Given the description of an element on the screen output the (x, y) to click on. 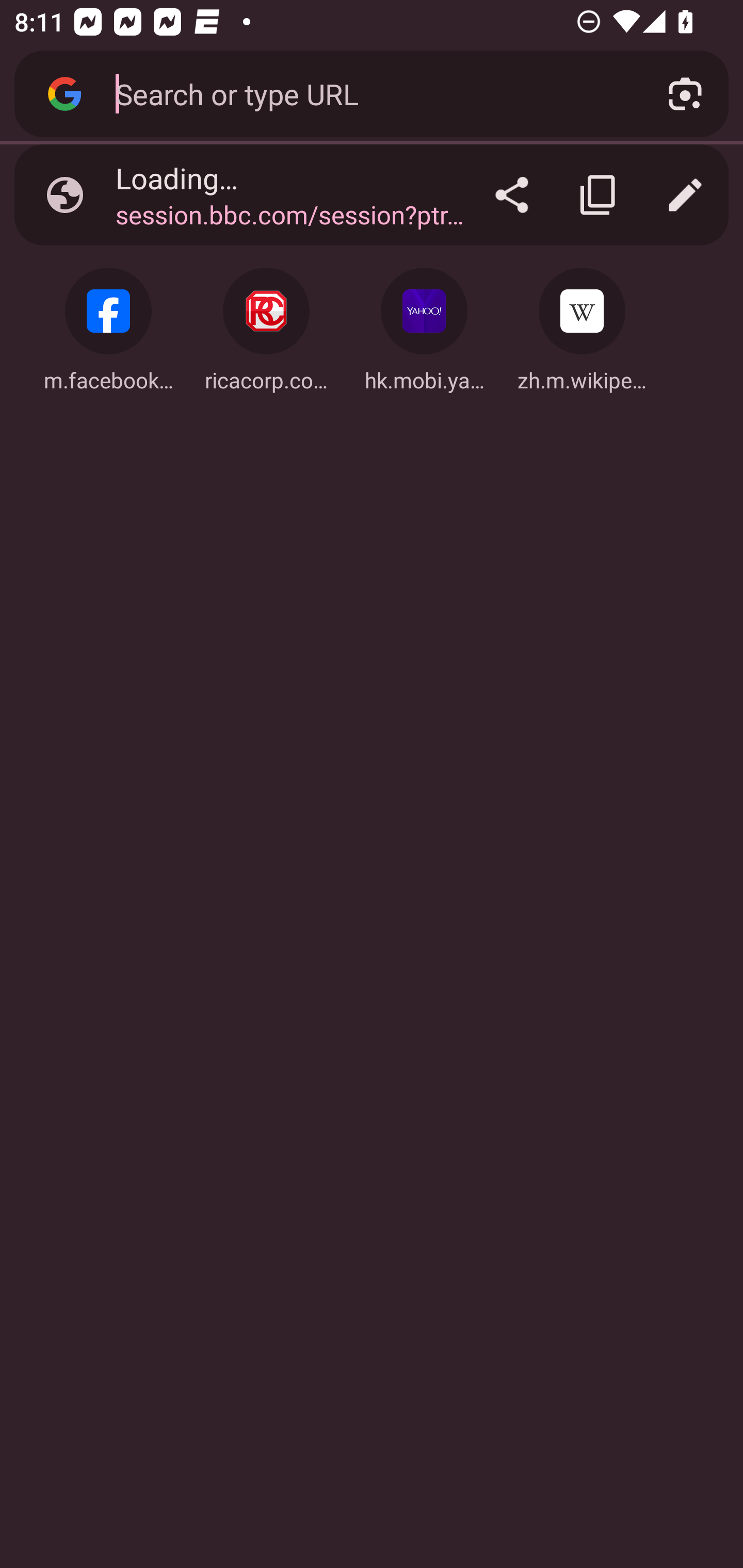
Search with your camera using Google Lens (684, 93)
Search or type URL (367, 92)
Share… (511, 195)
Copy link (598, 195)
Edit (684, 195)
